Given the description of an element on the screen output the (x, y) to click on. 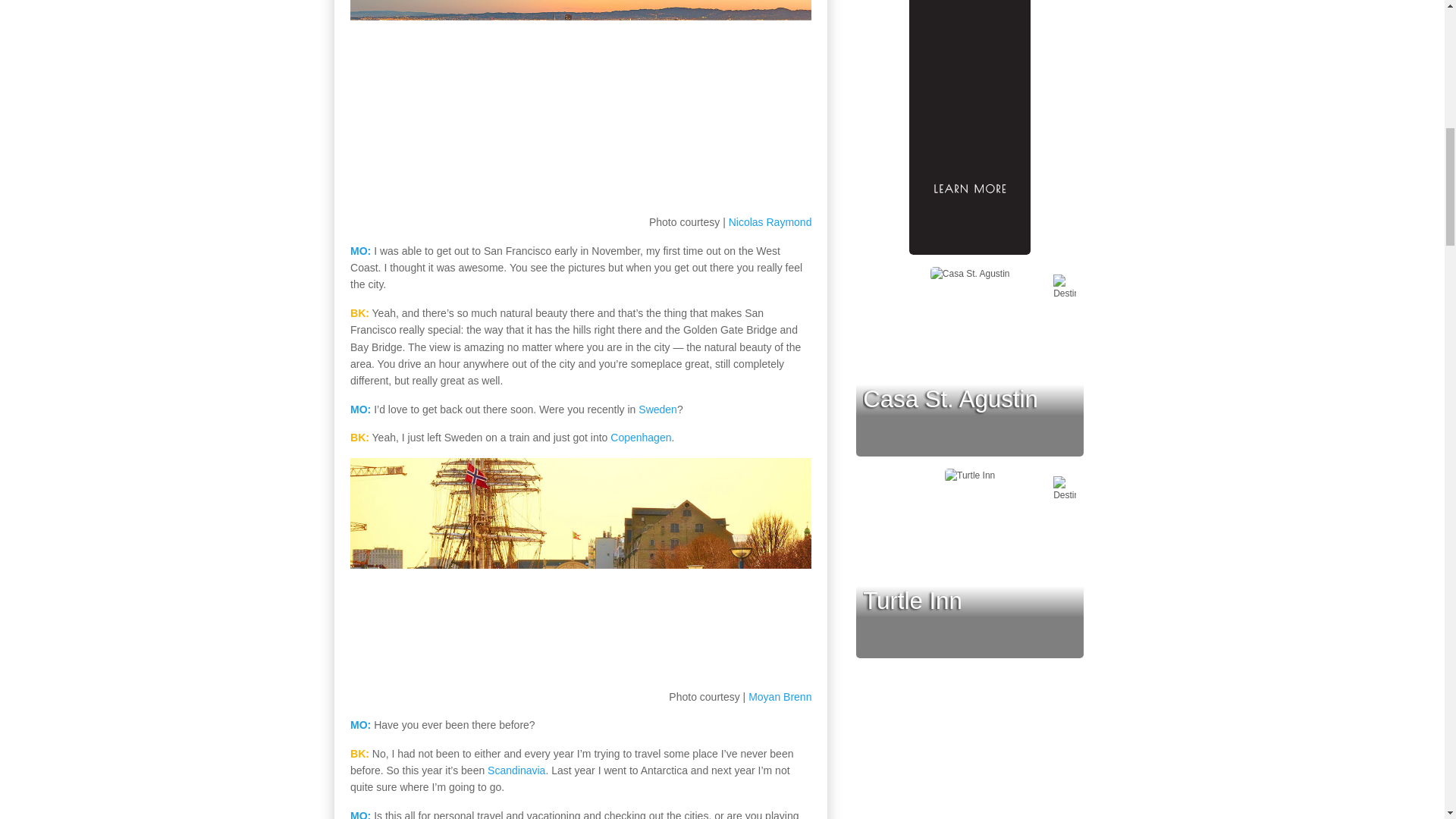
Turtle Inn (912, 601)
MO: (360, 814)
Nicolas Raymond (770, 222)
MO: (360, 250)
MO: (360, 725)
BK: (359, 437)
Copenhagen (640, 437)
Sweden (658, 409)
BK: (359, 313)
Casa St. Agustin (950, 398)
Moyan Brenn (779, 696)
BK: (359, 753)
MO: (360, 409)
Scandinavia (515, 770)
